Given the description of an element on the screen output the (x, y) to click on. 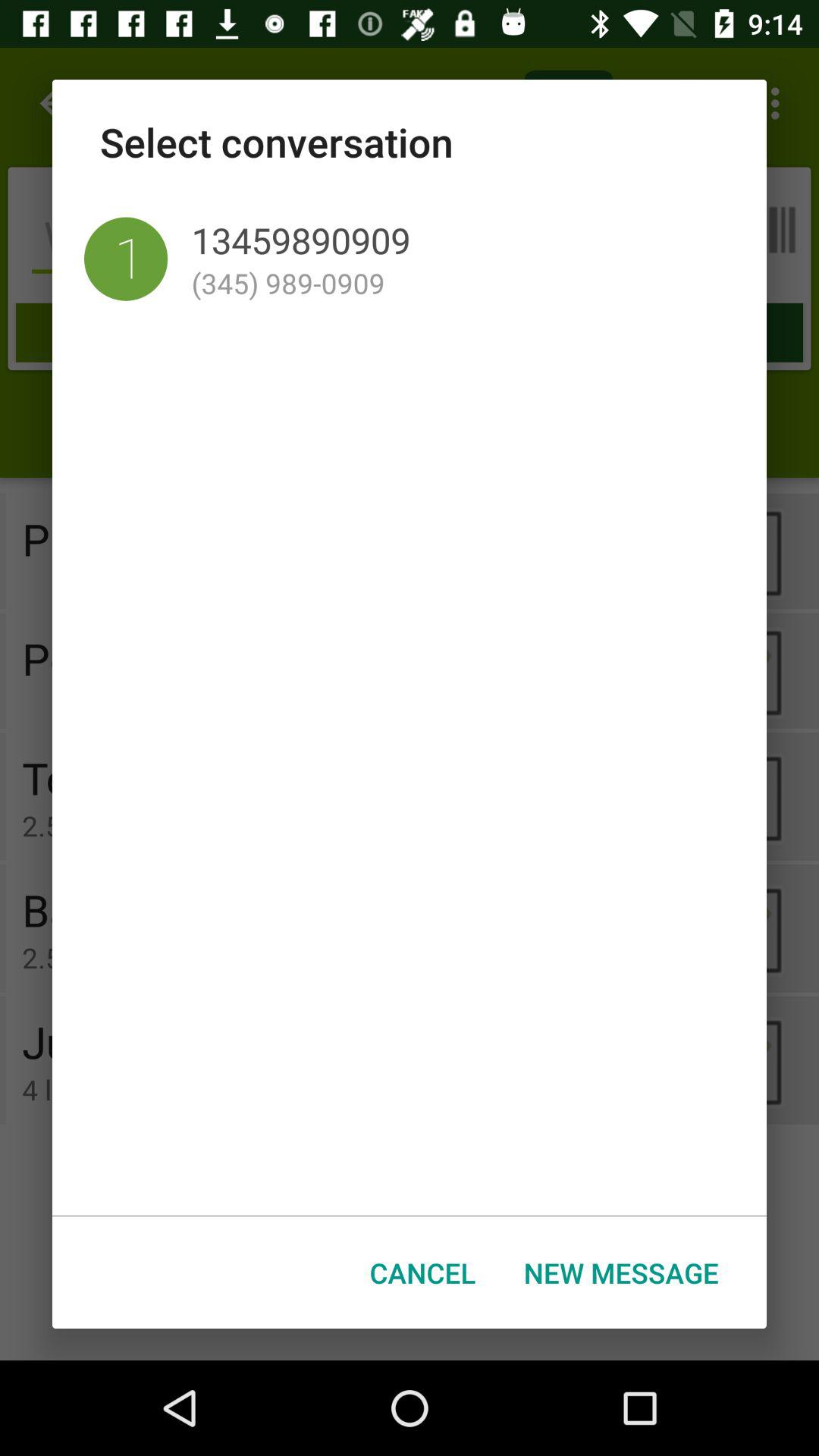
turn off cancel button (422, 1272)
